Given the description of an element on the screen output the (x, y) to click on. 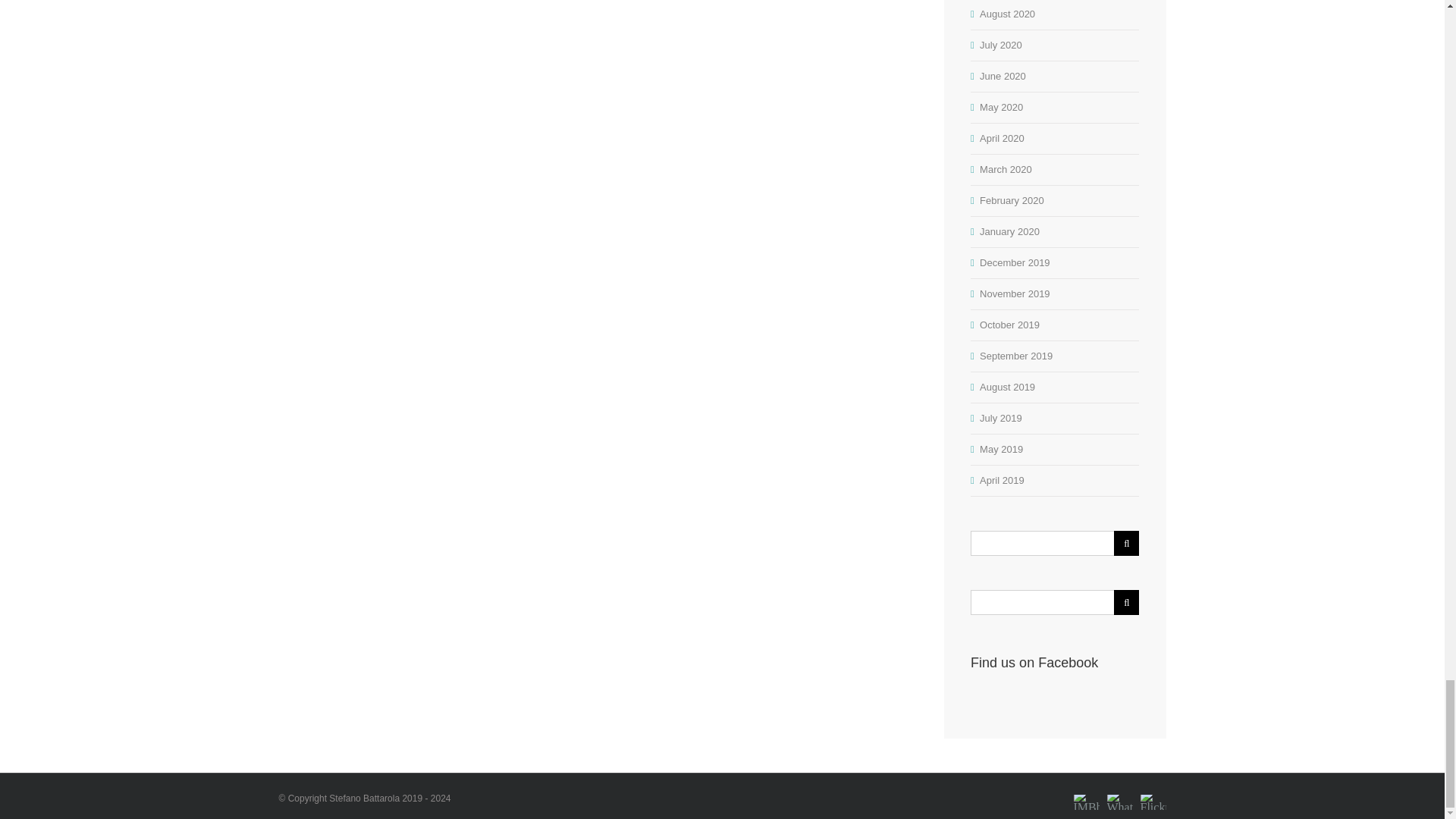
Flickr (1153, 792)
WhatsApp (1119, 792)
IMBb (1086, 792)
